Given the description of an element on the screen output the (x, y) to click on. 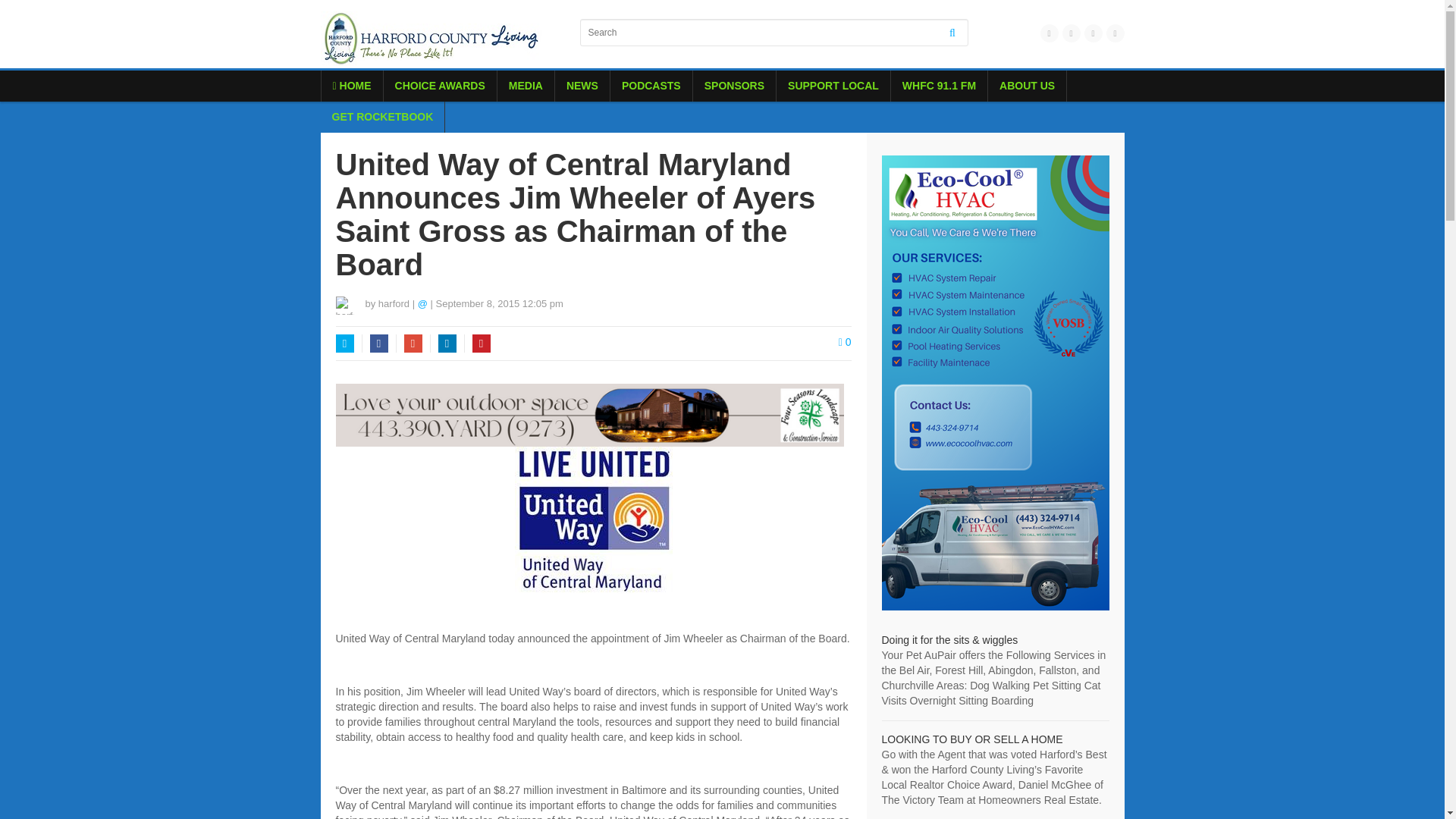
LinkedIn (447, 343)
Facebook (378, 343)
HOME (351, 85)
Twitter (343, 343)
NEWS (582, 85)
WHFC 91.1 FM (939, 85)
Pinterest (480, 343)
0 (844, 341)
SUPPORT LOCAL (832, 85)
MEDIA (525, 85)
GET ROCKETBOOK (382, 116)
harford (393, 303)
SPONSORS (734, 85)
The Victory Team at Homeowners Real Estate (971, 739)
ABOUT US (1026, 85)
